Given the description of an element on the screen output the (x, y) to click on. 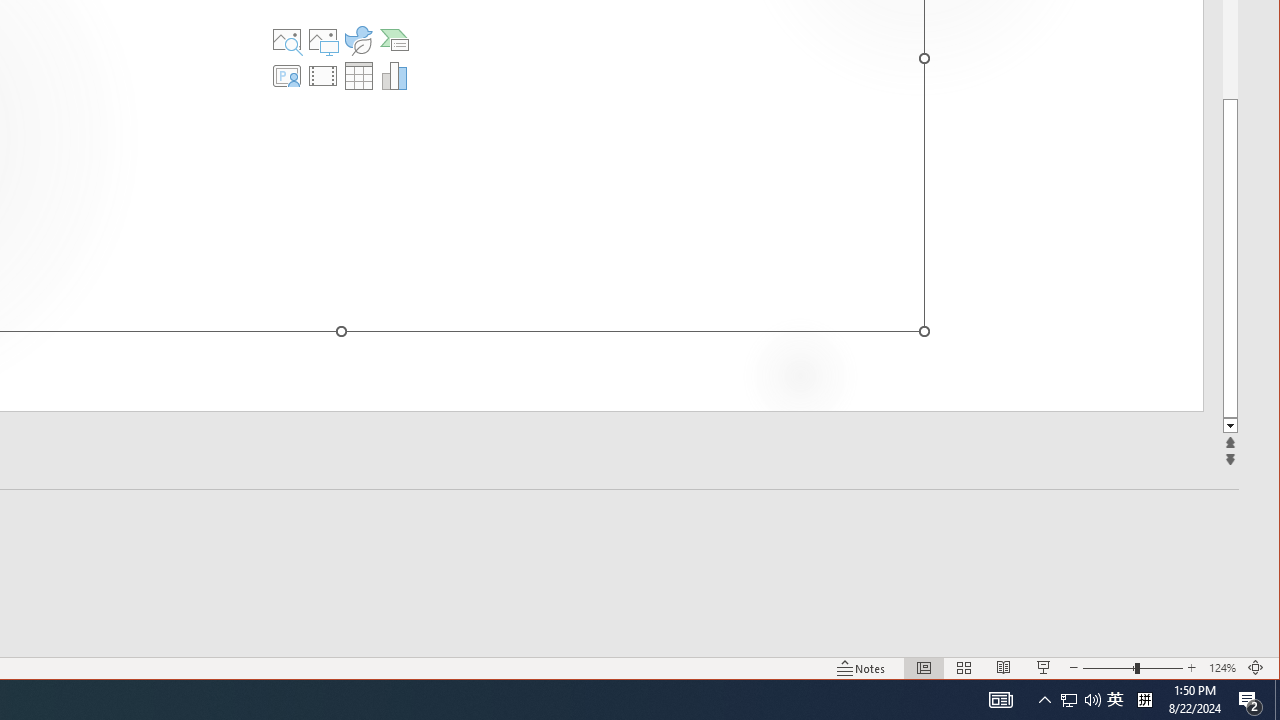
Insert Video (323, 75)
Insert Cameo (287, 75)
Stock Images (287, 39)
